Given the description of an element on the screen output the (x, y) to click on. 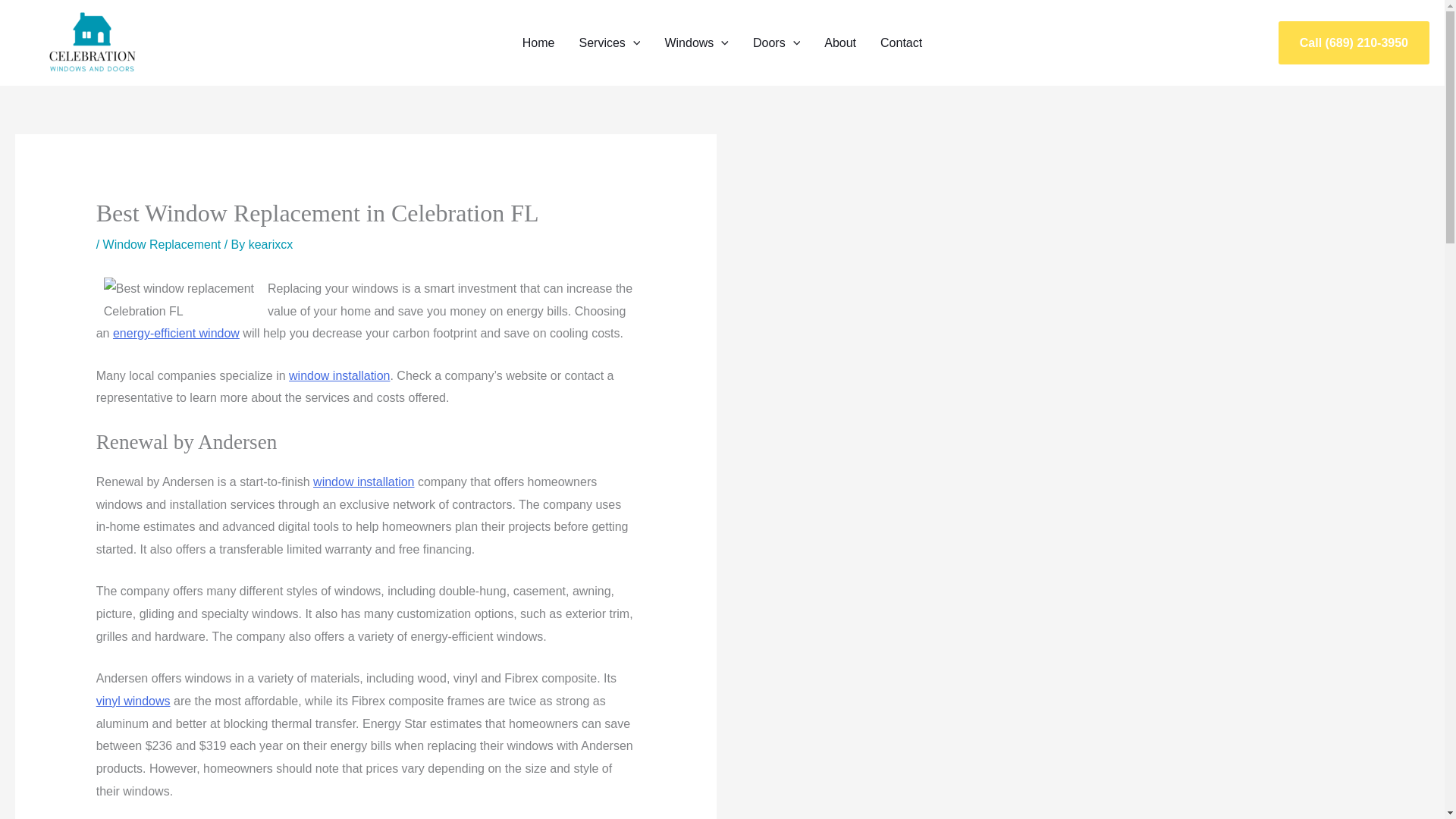
View all posts by kearixcx (271, 244)
vinyl windows (133, 700)
Home (539, 42)
Services (609, 42)
energy-efficient window (176, 332)
window installation (339, 375)
Windows (696, 42)
Window Replacement (162, 244)
About (839, 42)
window installation (363, 481)
Contact (900, 42)
Doors (776, 42)
kearixcx (271, 244)
